Given the description of an element on the screen output the (x, y) to click on. 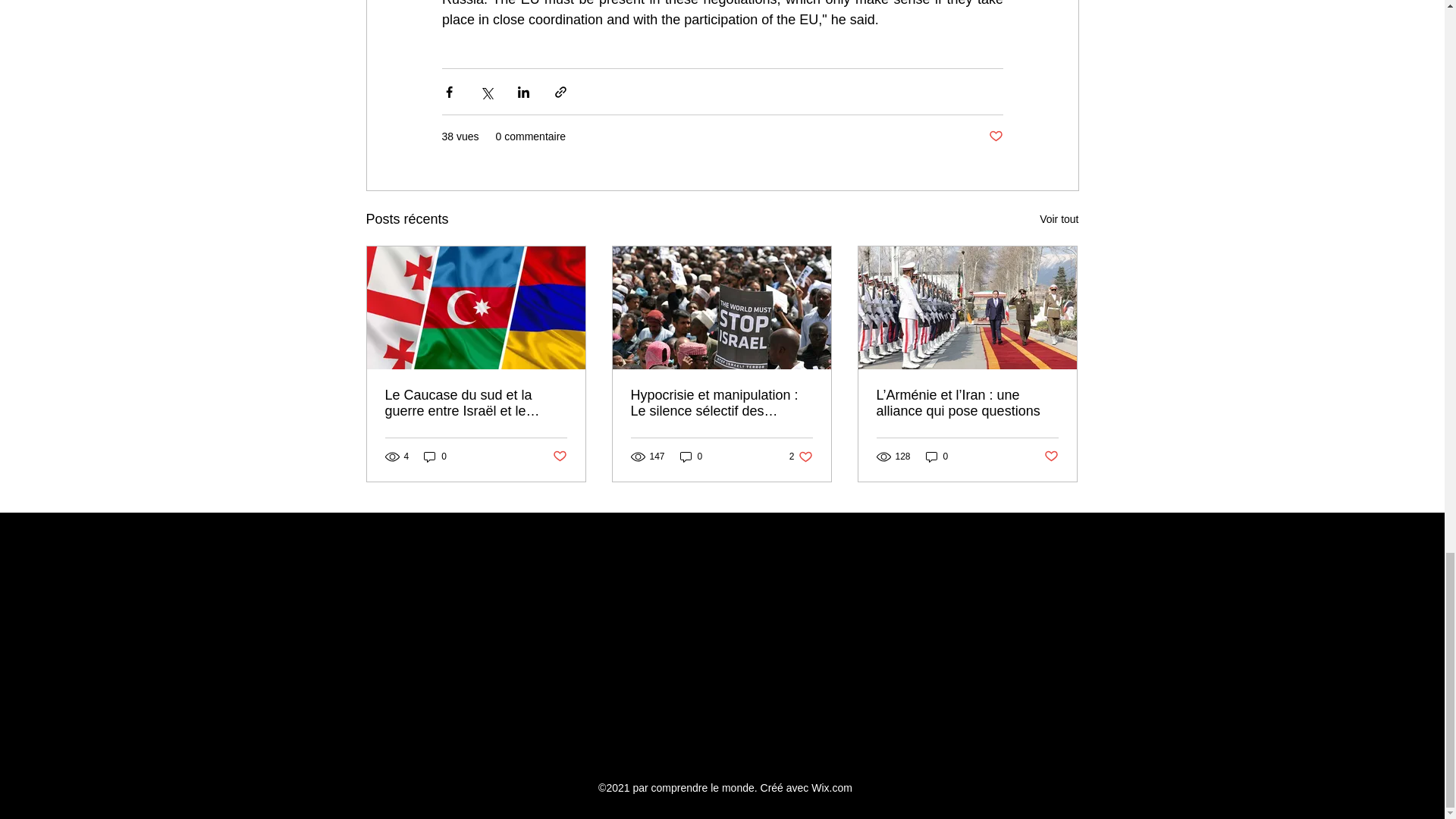
Vous n'aimez plus ce post (1050, 456)
Vous n'aimez plus ce post (558, 456)
0 (435, 455)
Vous n'aimez plus ce post (995, 136)
Voir tout (1058, 219)
0 (800, 455)
0 (691, 455)
